Given the description of an element on the screen output the (x, y) to click on. 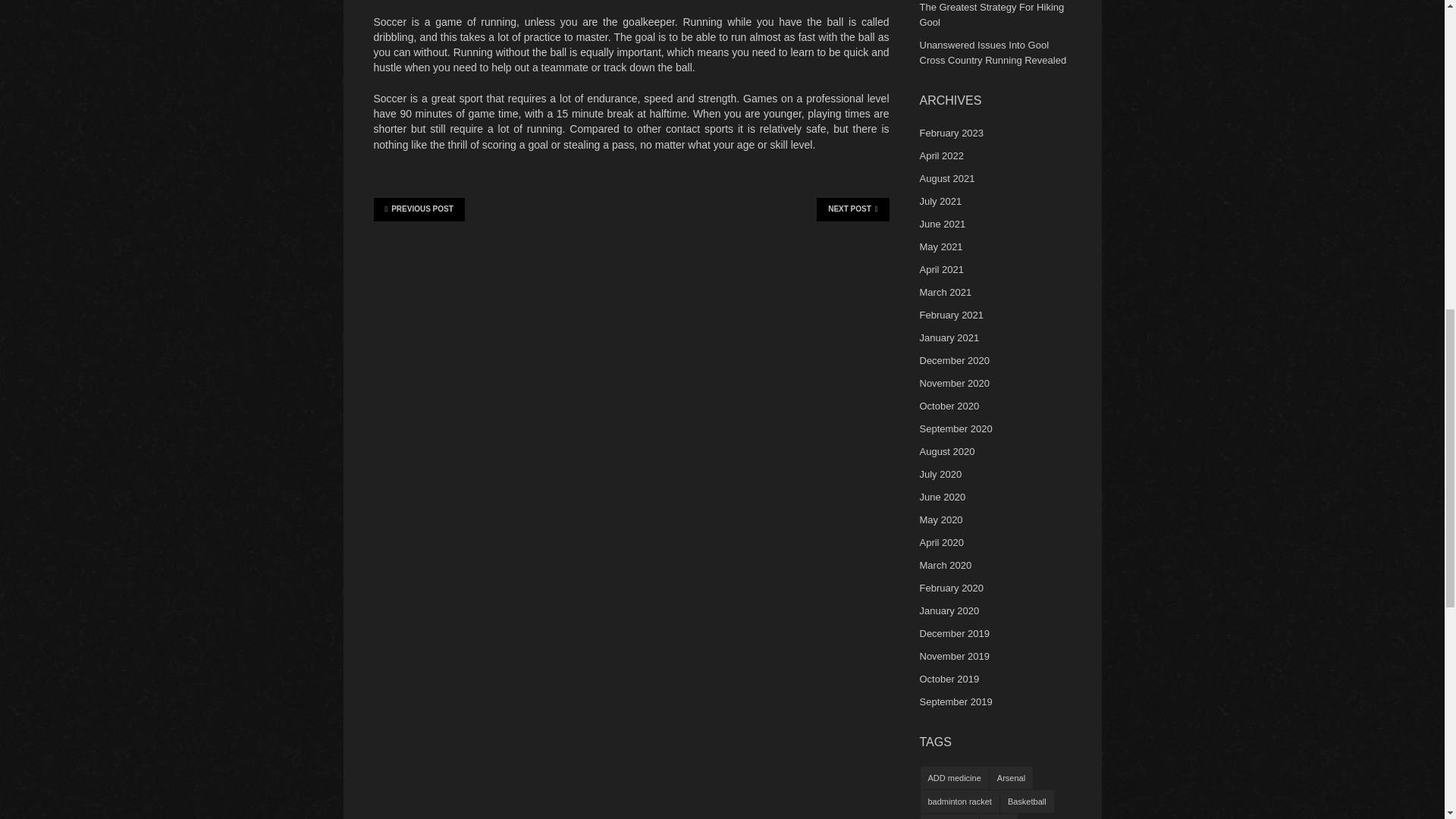
February 2023 (951, 132)
November 2020 (954, 383)
April 2021 (940, 269)
Unanswered Issues Into Gool Cross Country Running Revealed (991, 52)
May 2021 (940, 246)
The Greatest Strategy For Hiking Gool (991, 14)
October 2020 (948, 405)
July 2021 (939, 201)
March 2021 (944, 292)
PREVIOUS POST (418, 209)
